Given the description of an element on the screen output the (x, y) to click on. 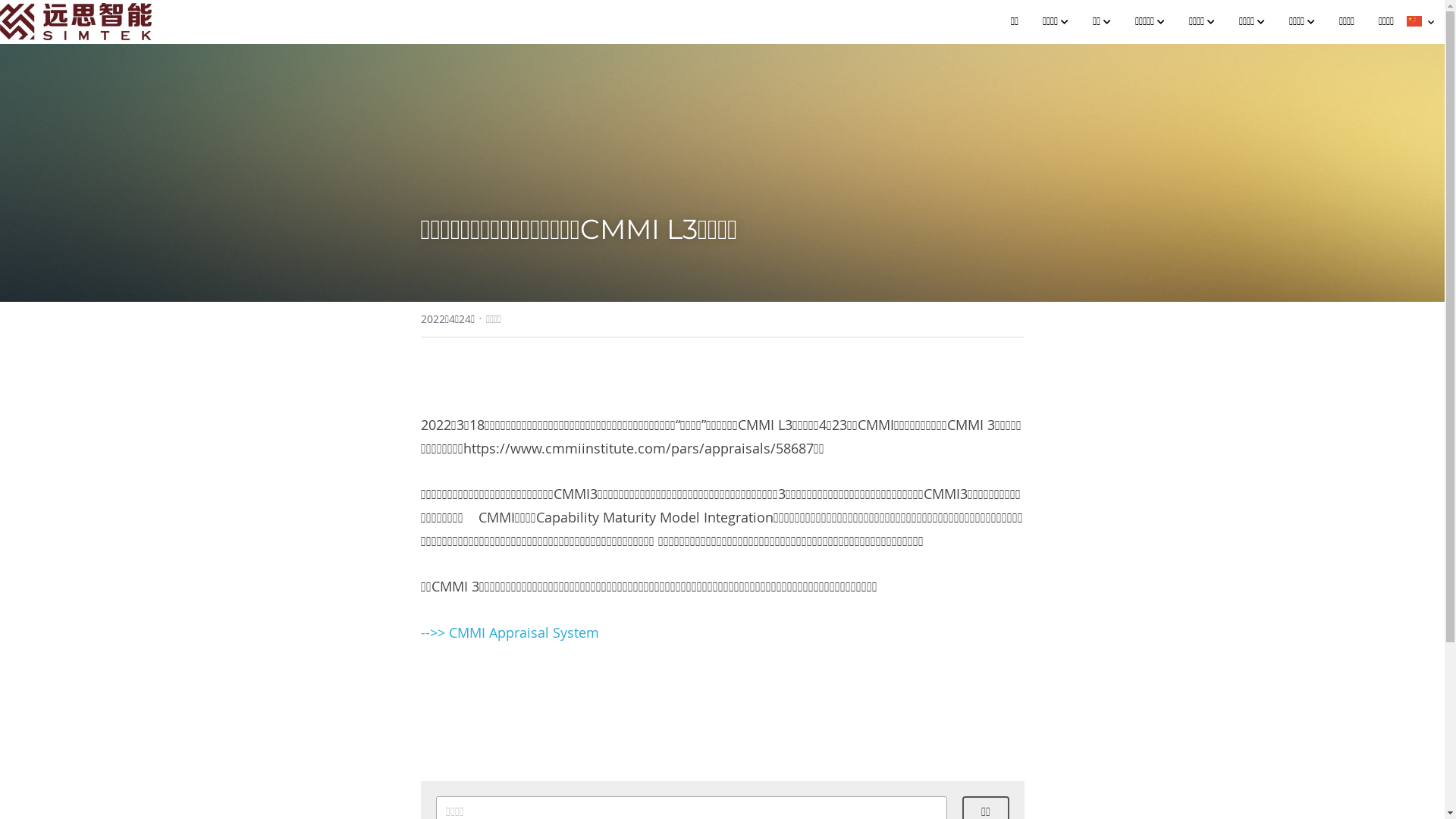
-->> CMMI Appraisal System Element type: text (509, 632)
